Given the description of an element on the screen output the (x, y) to click on. 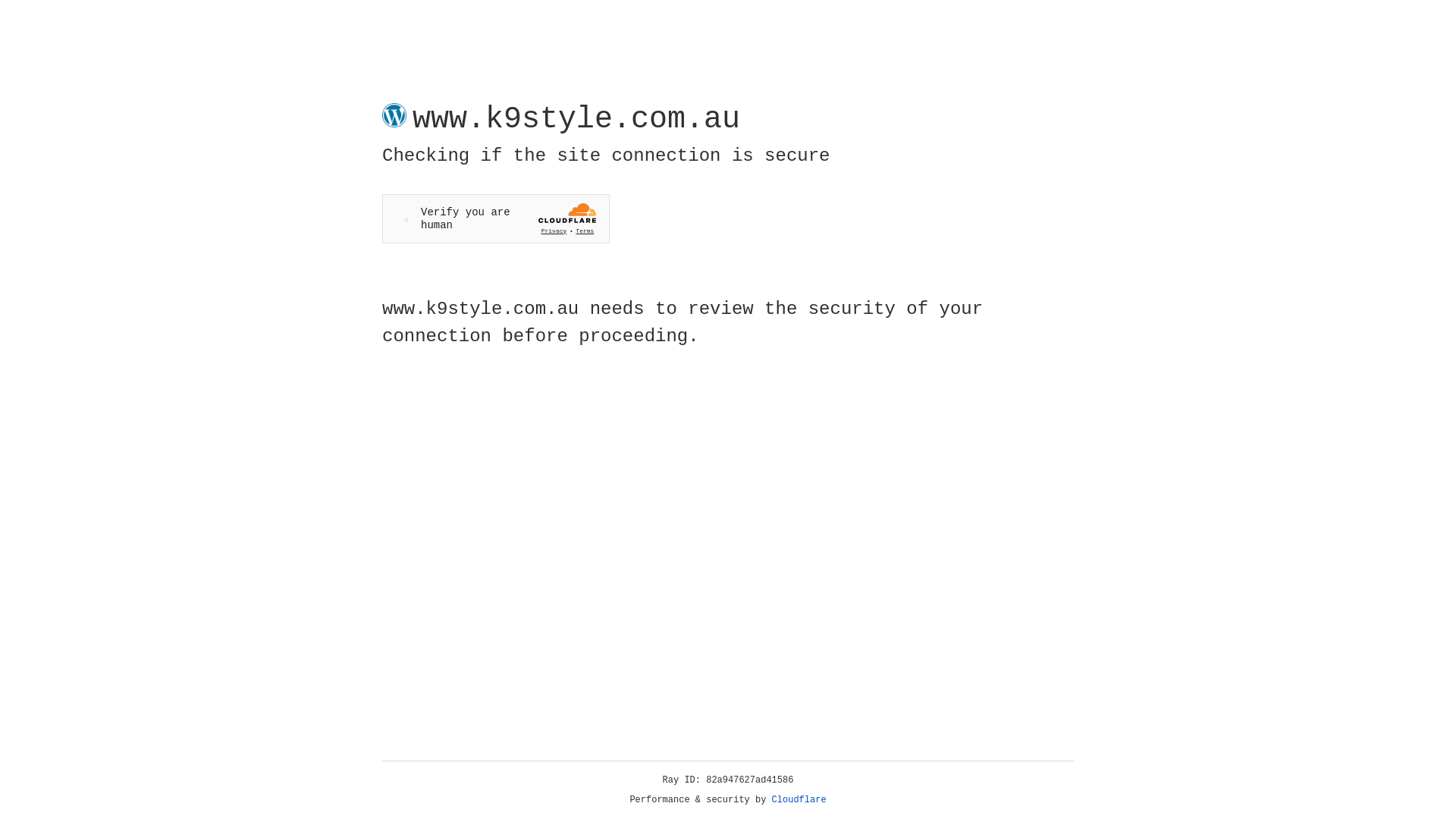
Cloudflare Element type: text (798, 799)
Widget containing a Cloudflare security challenge Element type: hover (495, 218)
